Given the description of an element on the screen output the (x, y) to click on. 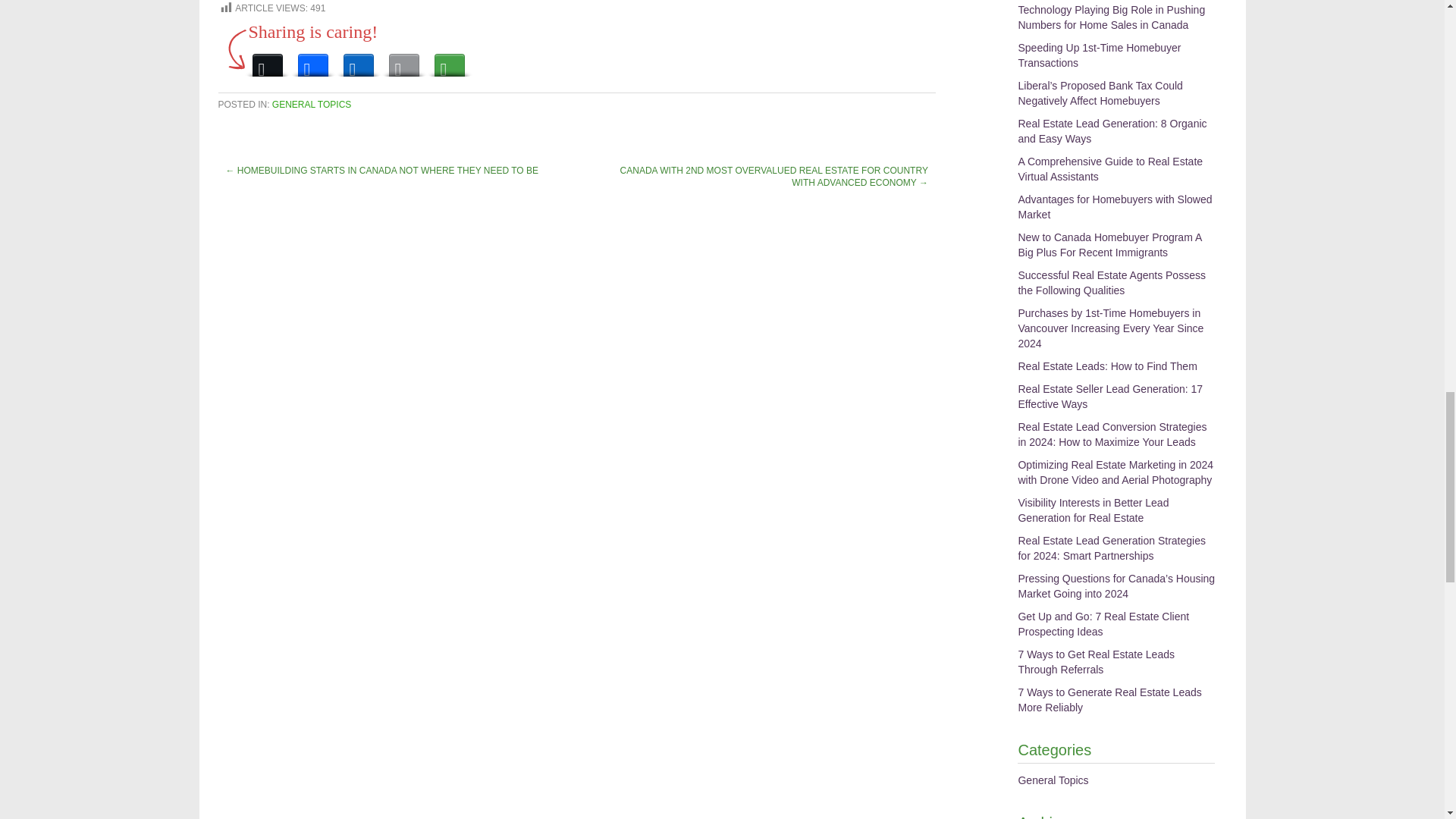
HOMEBUILDING STARTS IN CANADA NOT WHERE THEY NEED TO BE (387, 170)
Email This (403, 61)
GENERAL TOPICS (311, 104)
More Options (448, 61)
LinkedIn (357, 61)
Facebook (311, 61)
